Given the description of an element on the screen output the (x, y) to click on. 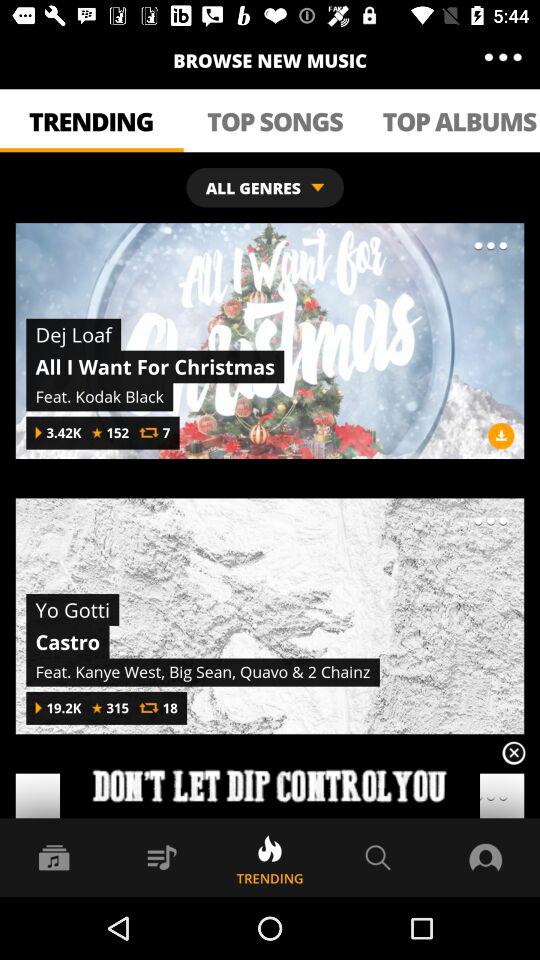
launch app above top albums (502, 57)
